Given the description of an element on the screen output the (x, y) to click on. 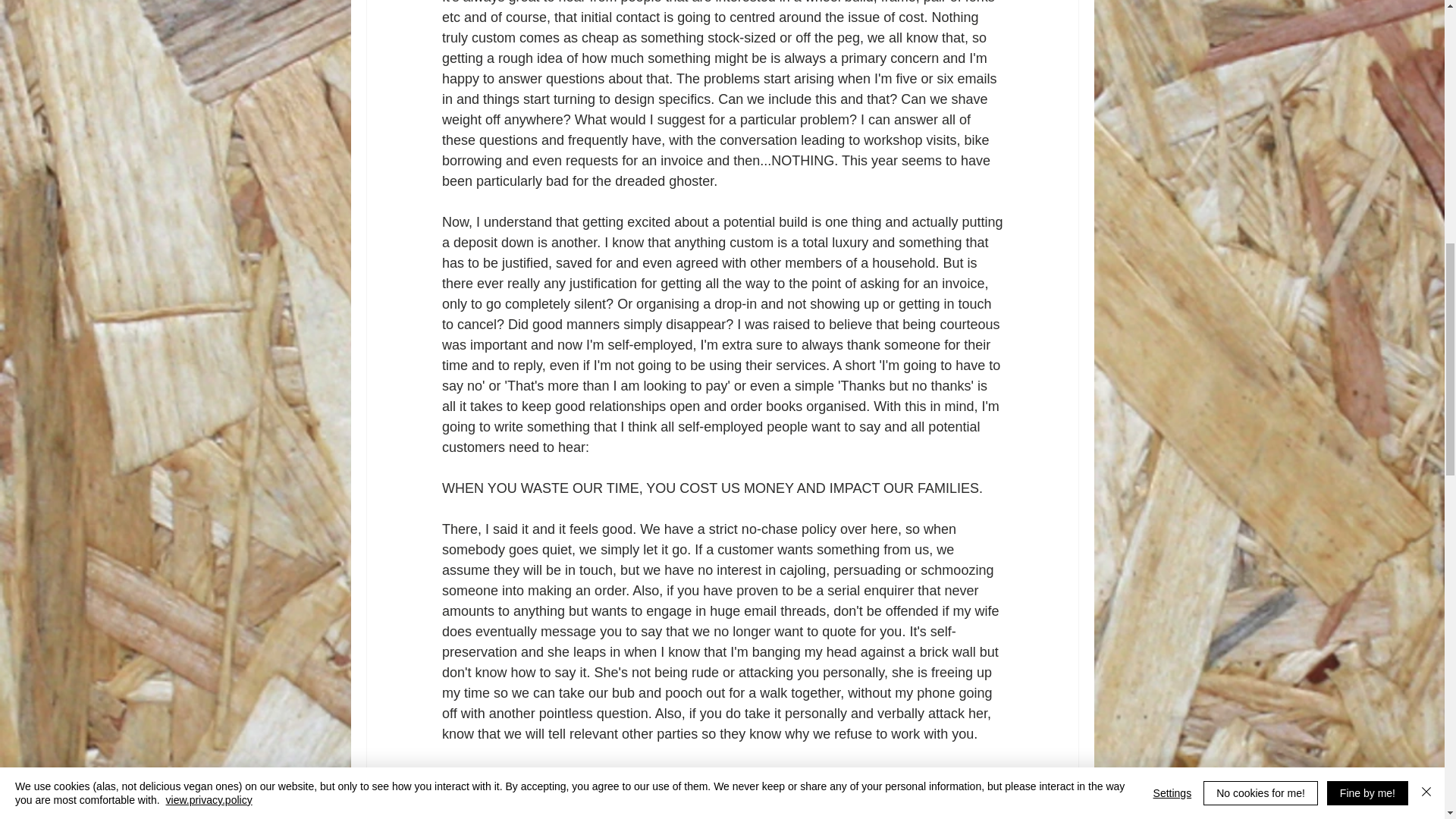
Instagram (820, 774)
